Given the description of an element on the screen output the (x, y) to click on. 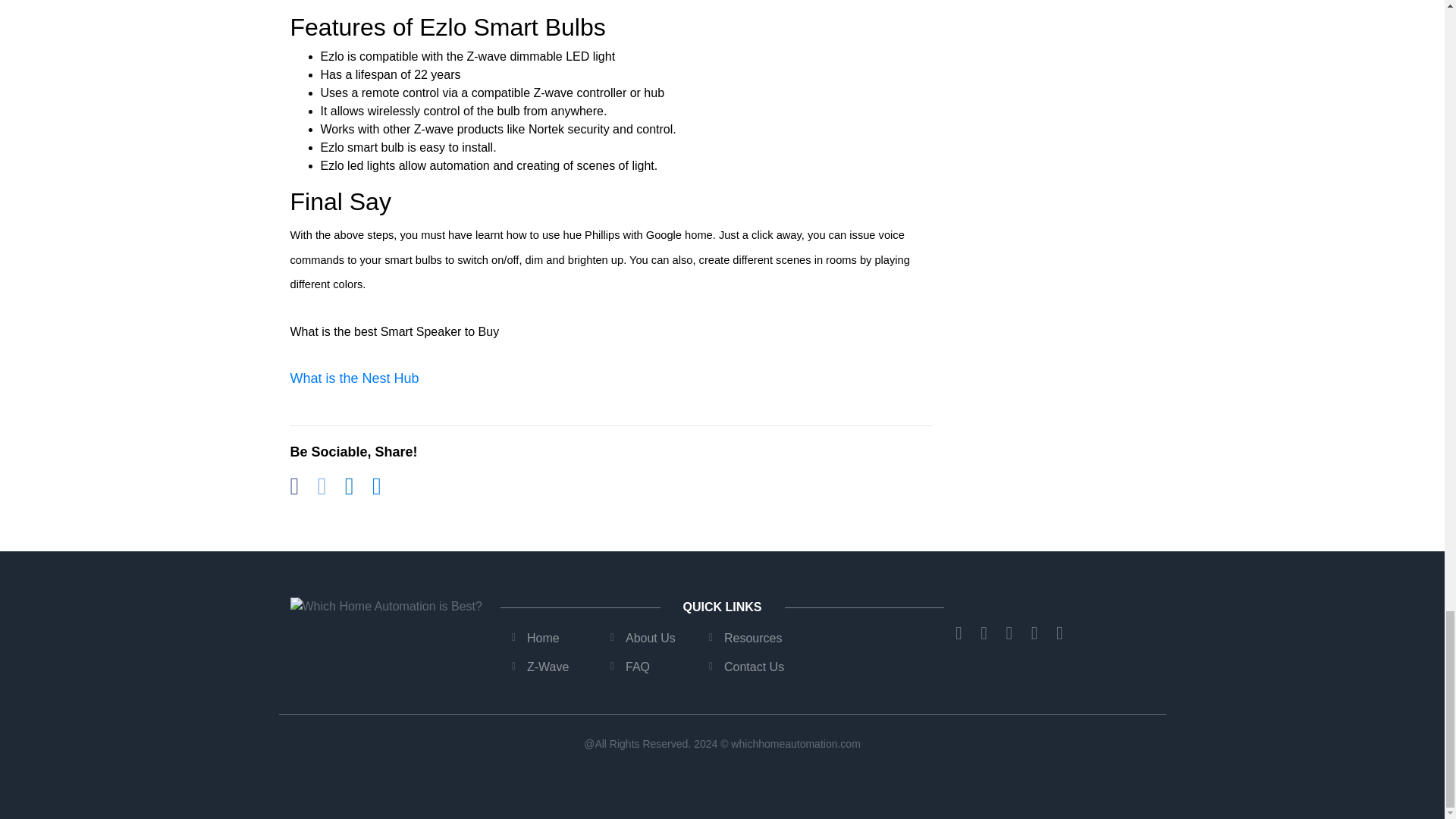
Contact Us (753, 666)
About Us (650, 637)
Resources (752, 637)
Home (543, 637)
What is the best Smart Speaker to Buy (394, 331)
Z-Wave (548, 666)
What is the Nest Hub (354, 378)
FAQ (637, 666)
